Given the description of an element on the screen output the (x, y) to click on. 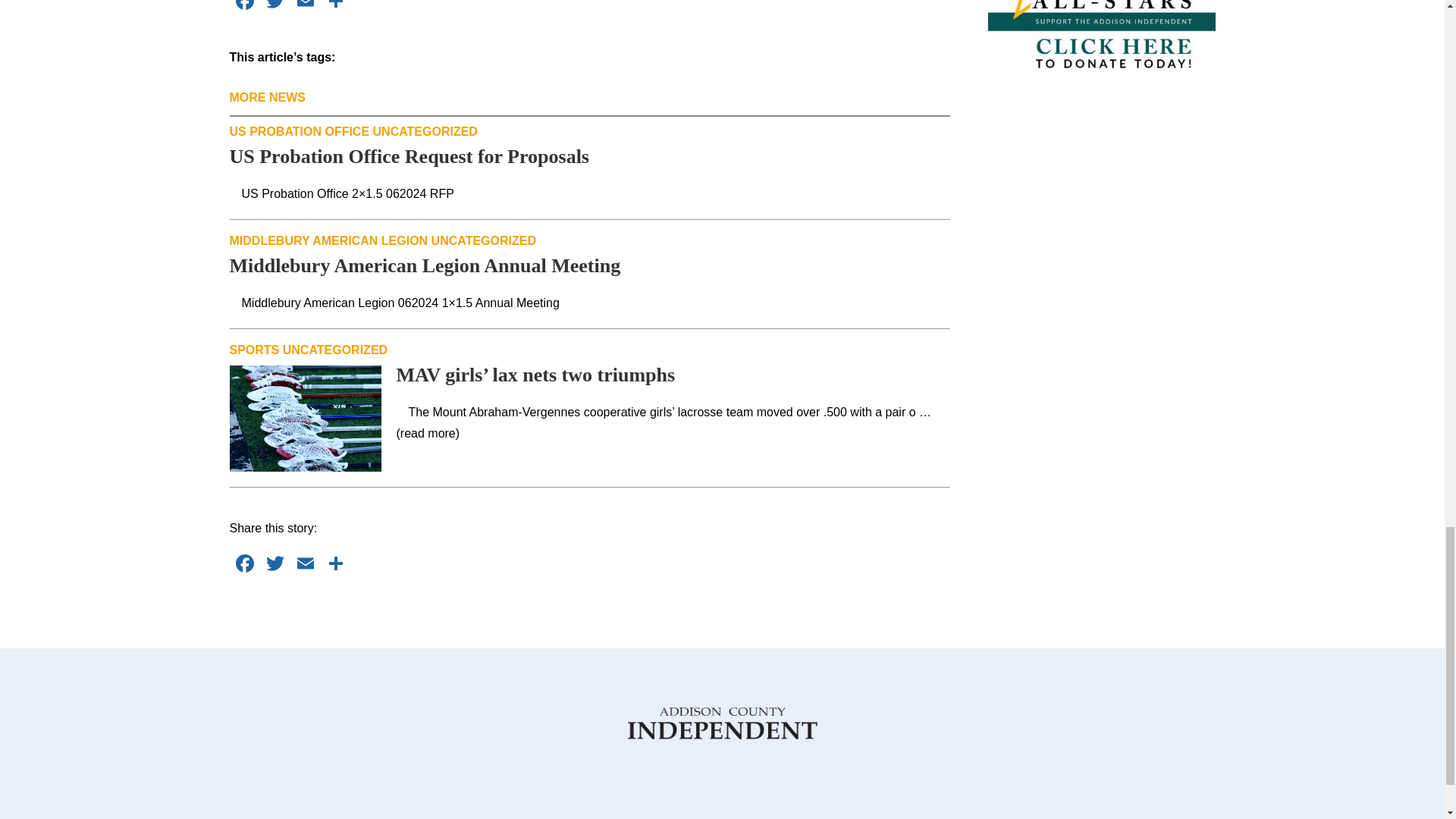
Facebook (243, 8)
Twitter (274, 8)
Email (304, 564)
Email (304, 8)
Twitter (274, 564)
Facebook (243, 564)
